Given the description of an element on the screen output the (x, y) to click on. 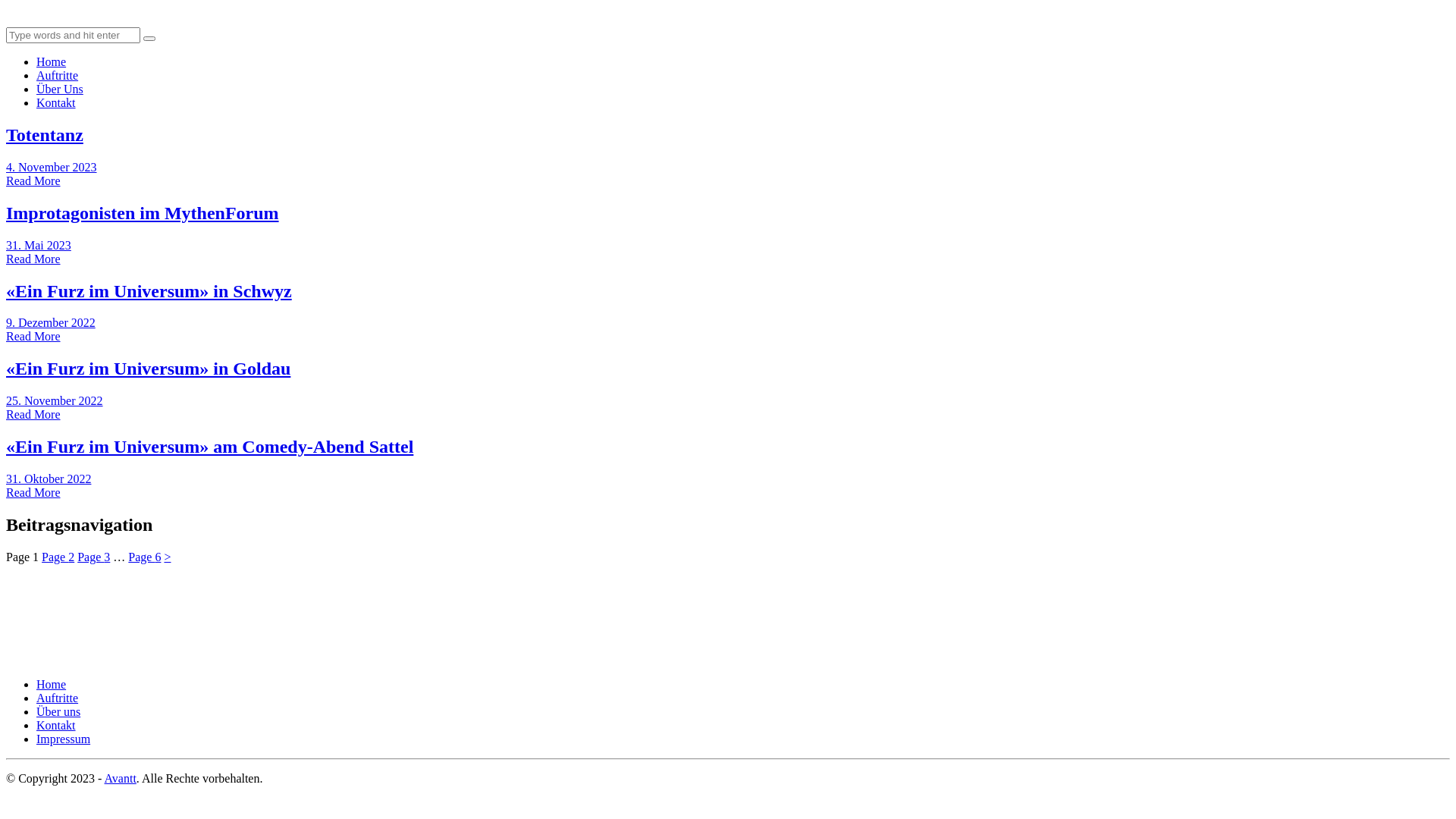
Home Element type: text (50, 61)
Impressum Element type: text (63, 738)
Page 3 Element type: text (93, 556)
Auftritte Element type: text (57, 75)
Improtagonisten im MythenForum Element type: text (142, 212)
Read More Element type: text (33, 258)
31. Mai 2023 Element type: text (38, 244)
Page 6 Element type: text (144, 556)
Totentanz Element type: text (44, 134)
Read More Element type: text (33, 413)
Read More Element type: text (33, 180)
4. November 2023 Element type: text (51, 166)
Read More Element type: text (33, 492)
Home Element type: text (50, 683)
31. Oktober 2022 Element type: text (48, 478)
Auftritte Element type: text (57, 697)
Kontakt Element type: text (55, 102)
Kontakt Element type: text (55, 724)
Page 2 Element type: text (57, 556)
Avantt Element type: text (120, 777)
Read More Element type: text (33, 335)
> Element type: text (166, 556)
9. Dezember 2022 Element type: text (50, 322)
25. November 2022 Element type: text (54, 400)
